Given the description of an element on the screen output the (x, y) to click on. 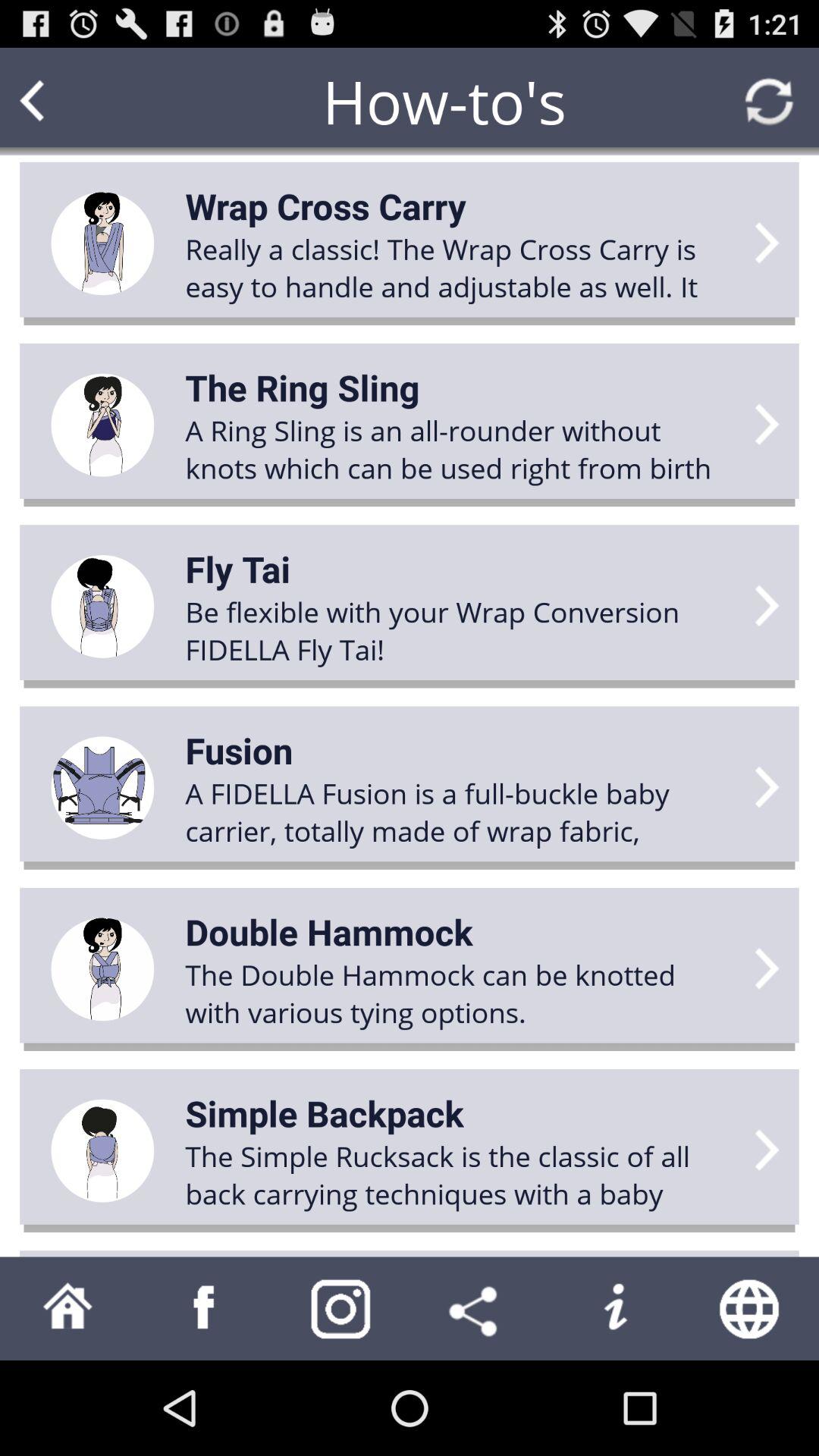
help button (614, 1308)
